Given the description of an element on the screen output the (x, y) to click on. 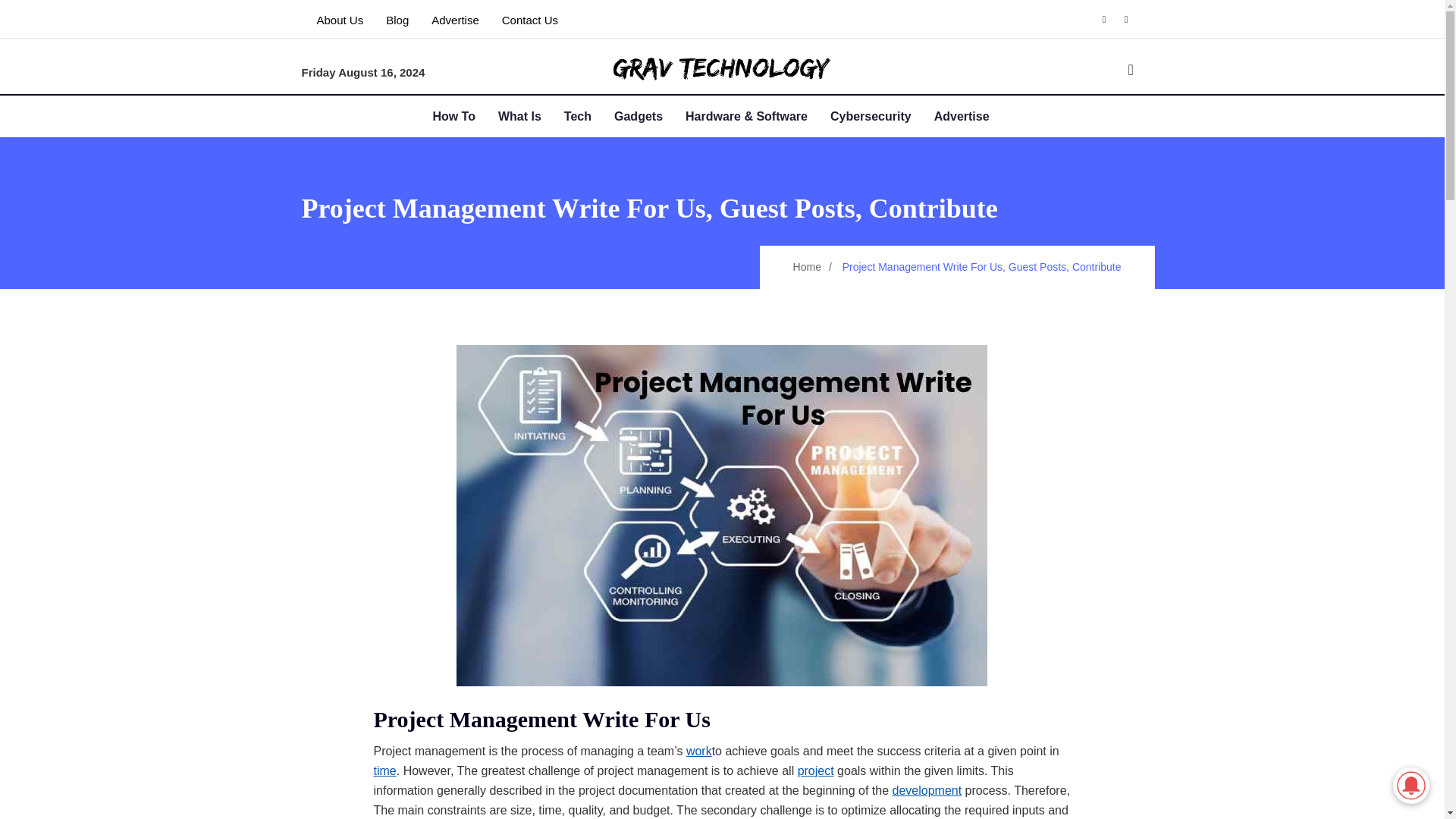
time (384, 771)
Contact Us (529, 20)
Advertise (972, 116)
development (925, 790)
Gadgets (649, 116)
Cybersecurity (881, 116)
What Is (530, 116)
work (698, 751)
Tech (589, 116)
Home (807, 267)
